Given the description of an element on the screen output the (x, y) to click on. 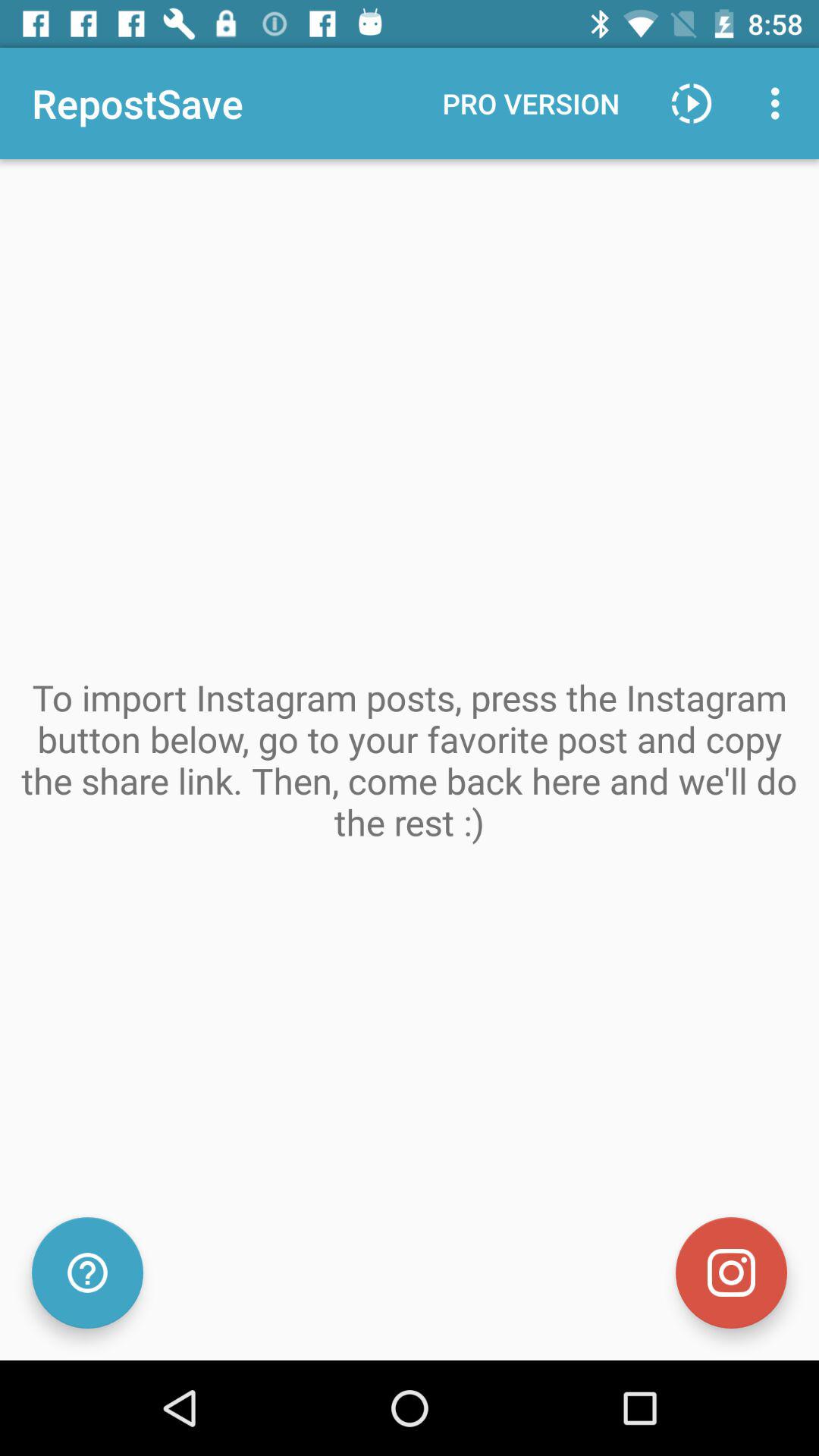
open icon at the bottom right corner (731, 1272)
